Given the description of an element on the screen output the (x, y) to click on. 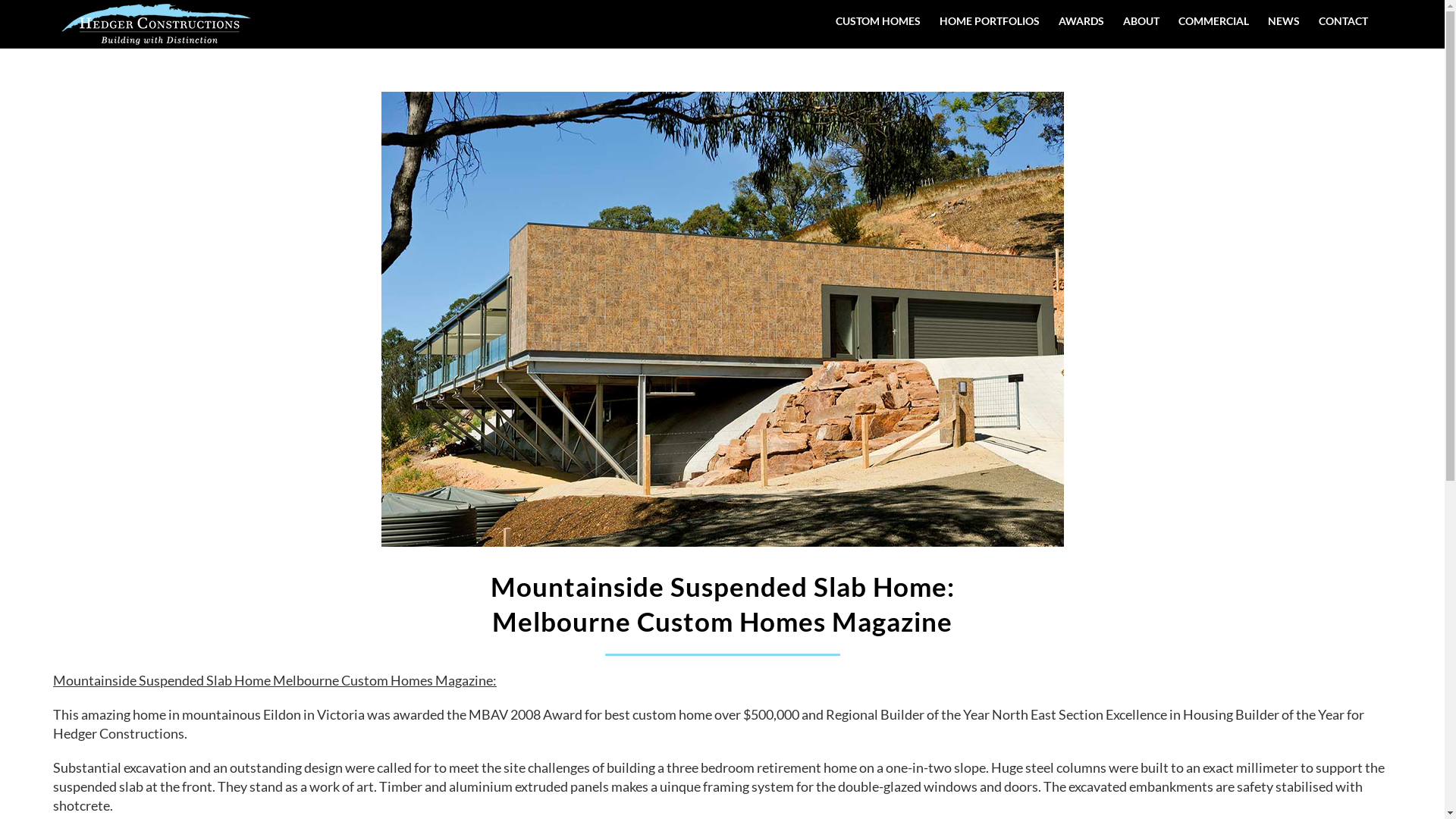
NEWS Element type: text (1283, 21)
CUSTOM HOMES Element type: text (877, 21)
ABOUT Element type: text (1141, 21)
HOME PORTFOLIOS Element type: text (989, 21)
CONTACT Element type: text (1343, 21)
COMMERCIAL Element type: text (1213, 21)
AWARDS Element type: text (1081, 21)
